Given the description of an element on the screen output the (x, y) to click on. 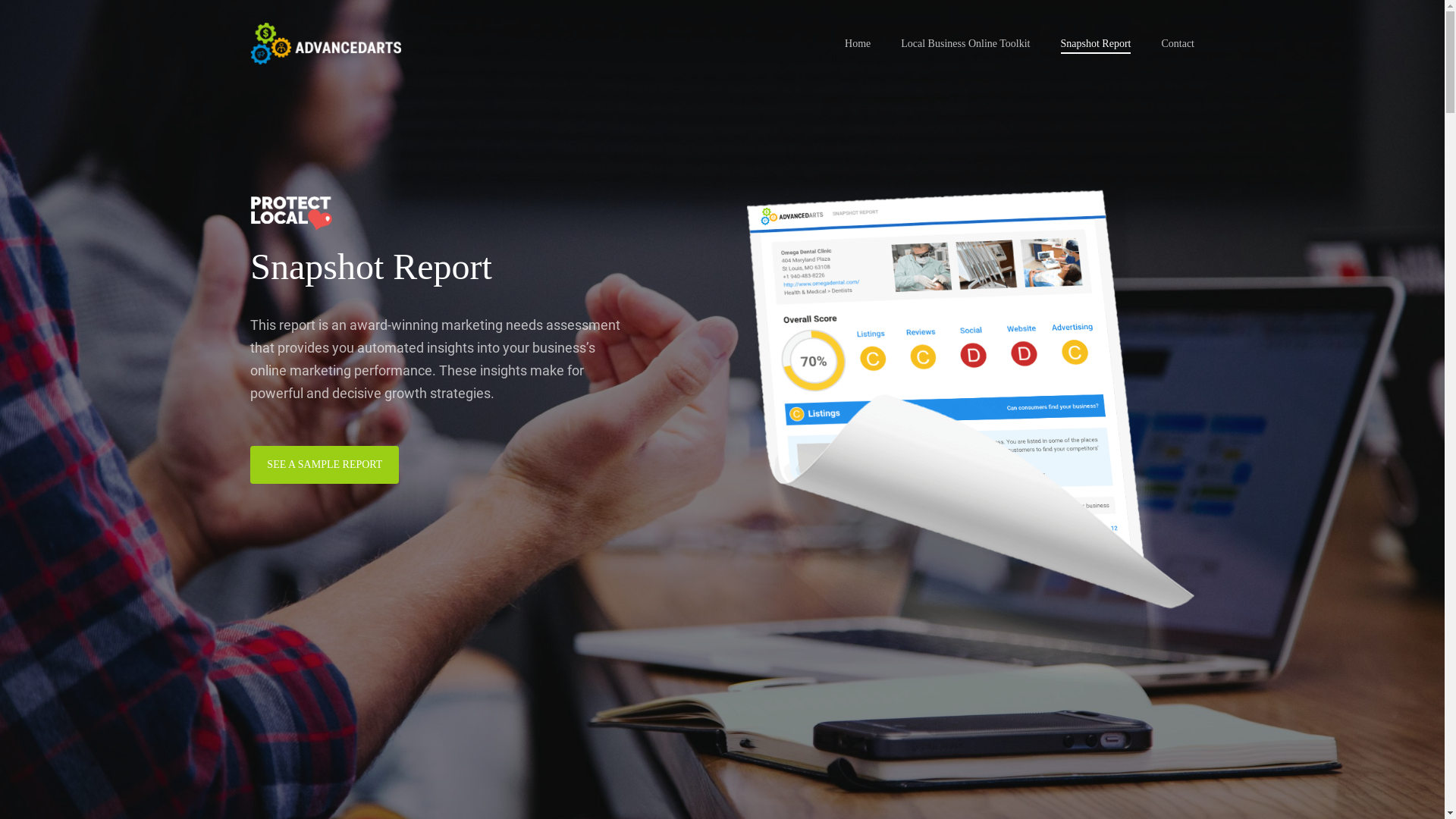
Snapshot Report Element type: text (1095, 43)
Contact Element type: text (1177, 43)
Local Business Online Toolkit Element type: text (964, 43)
Home Element type: text (857, 43)
SEE A SAMPLE REPORT Element type: text (324, 464)
